Given the description of an element on the screen output the (x, y) to click on. 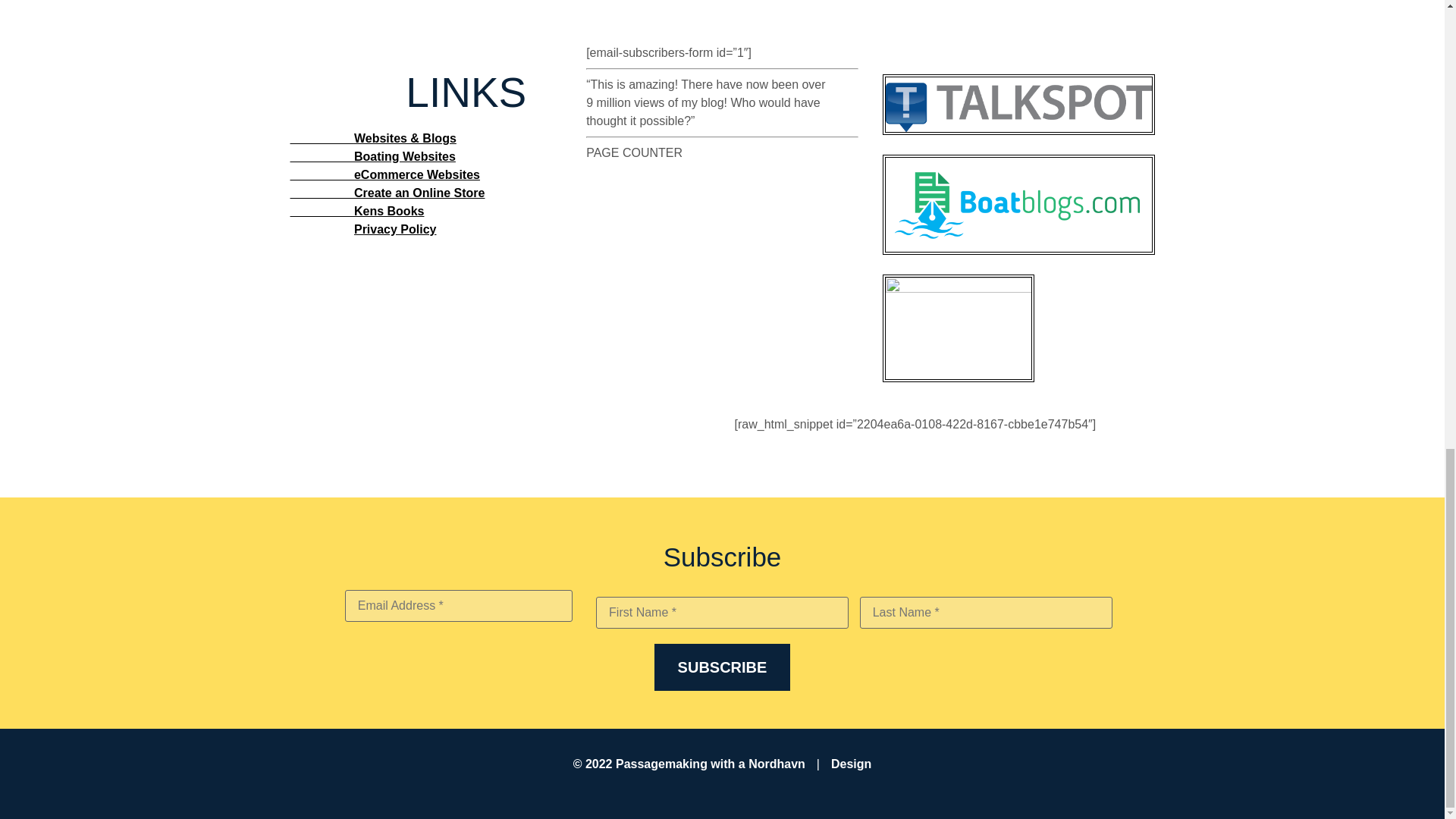
Design (850, 763)
                   Create an Online Store (386, 192)
                   eCommerce Websites (384, 174)
Subscribe (721, 667)
Subscribe (721, 667)
Privacy Policy (394, 228)
                   Boating Websites (371, 155)
                   Kens Books (356, 210)
